Given the description of an element on the screen output the (x, y) to click on. 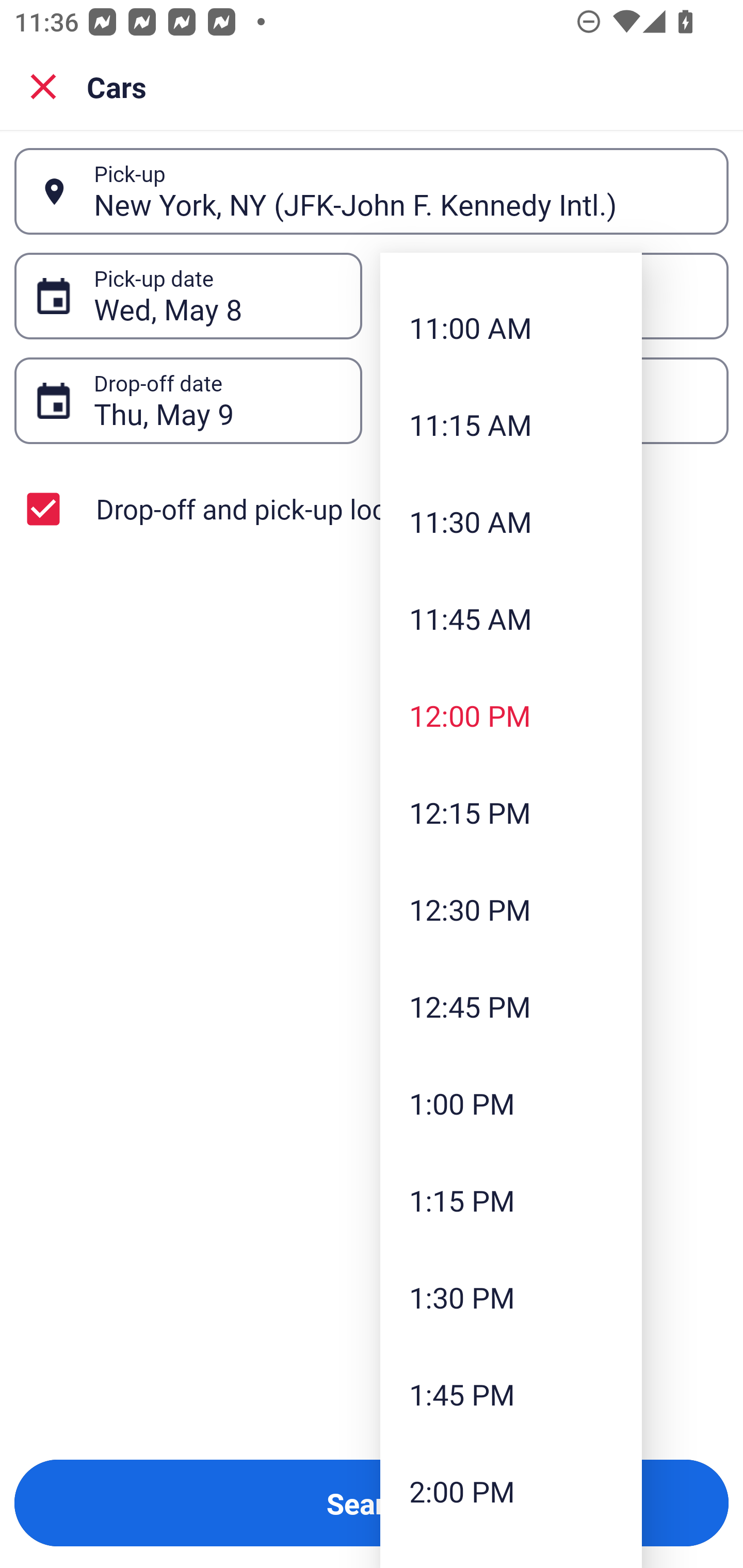
11:00 AM (510, 327)
11:15 AM (510, 424)
11:30 AM (510, 521)
11:45 AM (510, 617)
12:00 PM (510, 714)
12:15 PM (510, 811)
12:30 PM (510, 909)
12:45 PM (510, 1006)
1:00 PM (510, 1103)
1:15 PM (510, 1200)
1:30 PM (510, 1296)
1:45 PM (510, 1393)
2:00 PM (510, 1490)
